Given the description of an element on the screen output the (x, y) to click on. 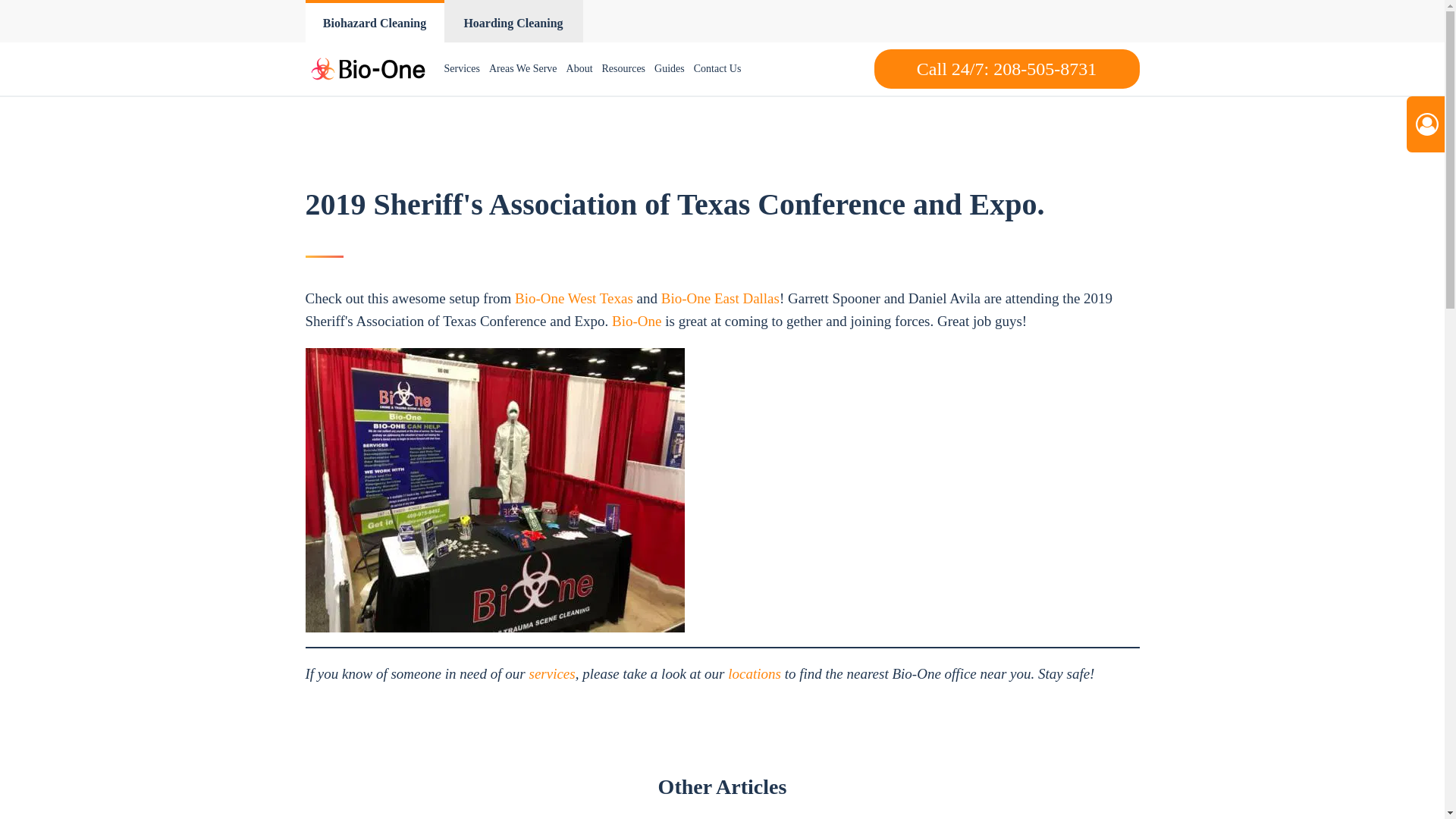
Areas We Serve (523, 68)
Resources (623, 68)
Hoarding Cleaning (513, 21)
Services (461, 68)
Biohazard Cleaning (374, 21)
Contact Us (716, 68)
